Given the description of an element on the screen output the (x, y) to click on. 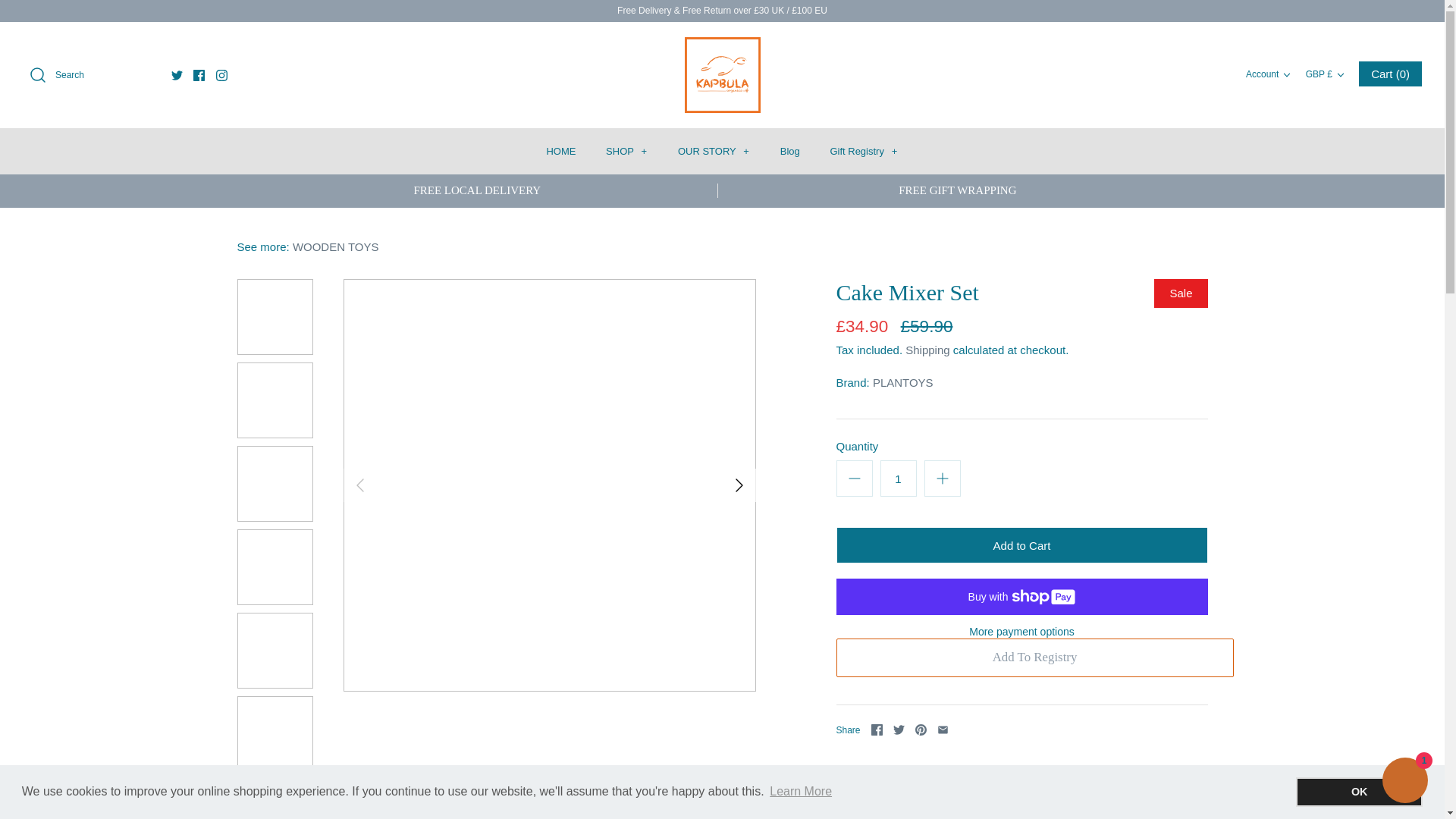
Twitter (177, 75)
Twitter (898, 729)
Share using email (943, 729)
Email (943, 729)
Instagram (221, 75)
Add to Cart (1021, 545)
Instagram (221, 75)
Pin the main image (920, 729)
Facebook (876, 729)
Facebook (199, 75)
Share on Twitter (898, 729)
OK (1358, 791)
Instagram (221, 75)
Learn More (800, 791)
Twitter (177, 75)
